Given the description of an element on the screen output the (x, y) to click on. 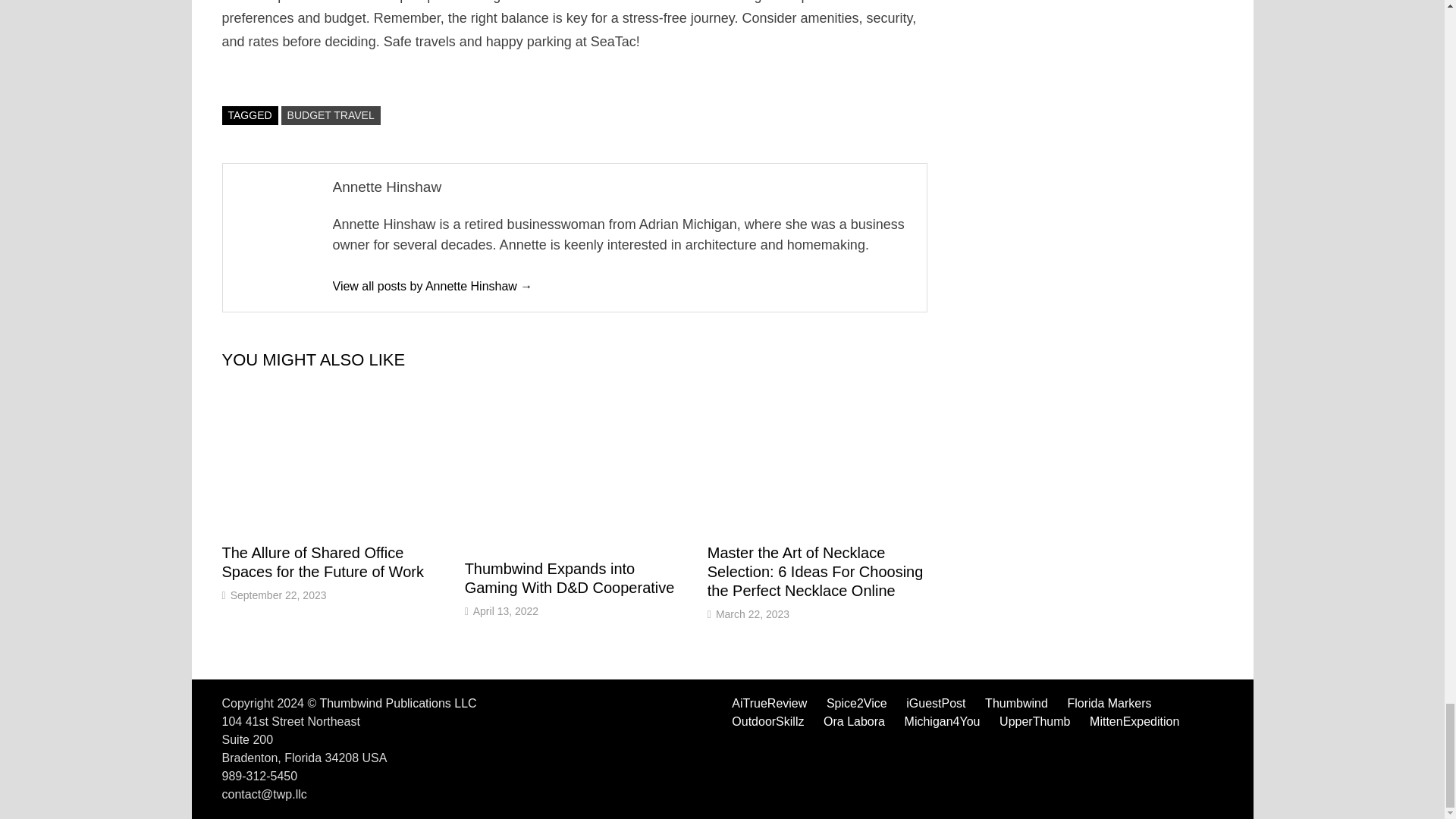
Annette Hinshaw (431, 286)
The Allure of Shared Office Spaces for the Future of Work (322, 561)
